Given the description of an element on the screen output the (x, y) to click on. 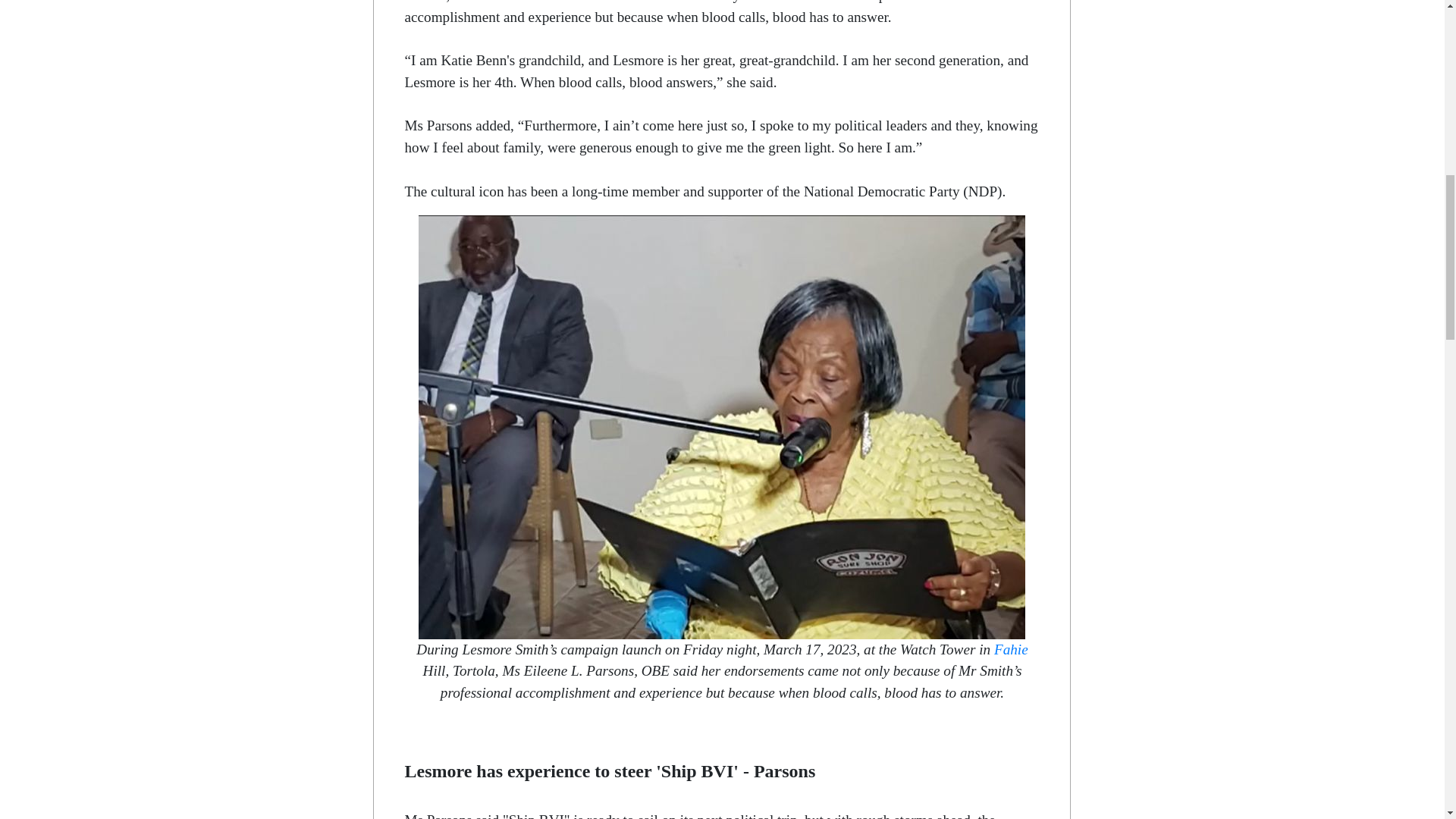
Fahie (1010, 649)
